Given the description of an element on the screen output the (x, y) to click on. 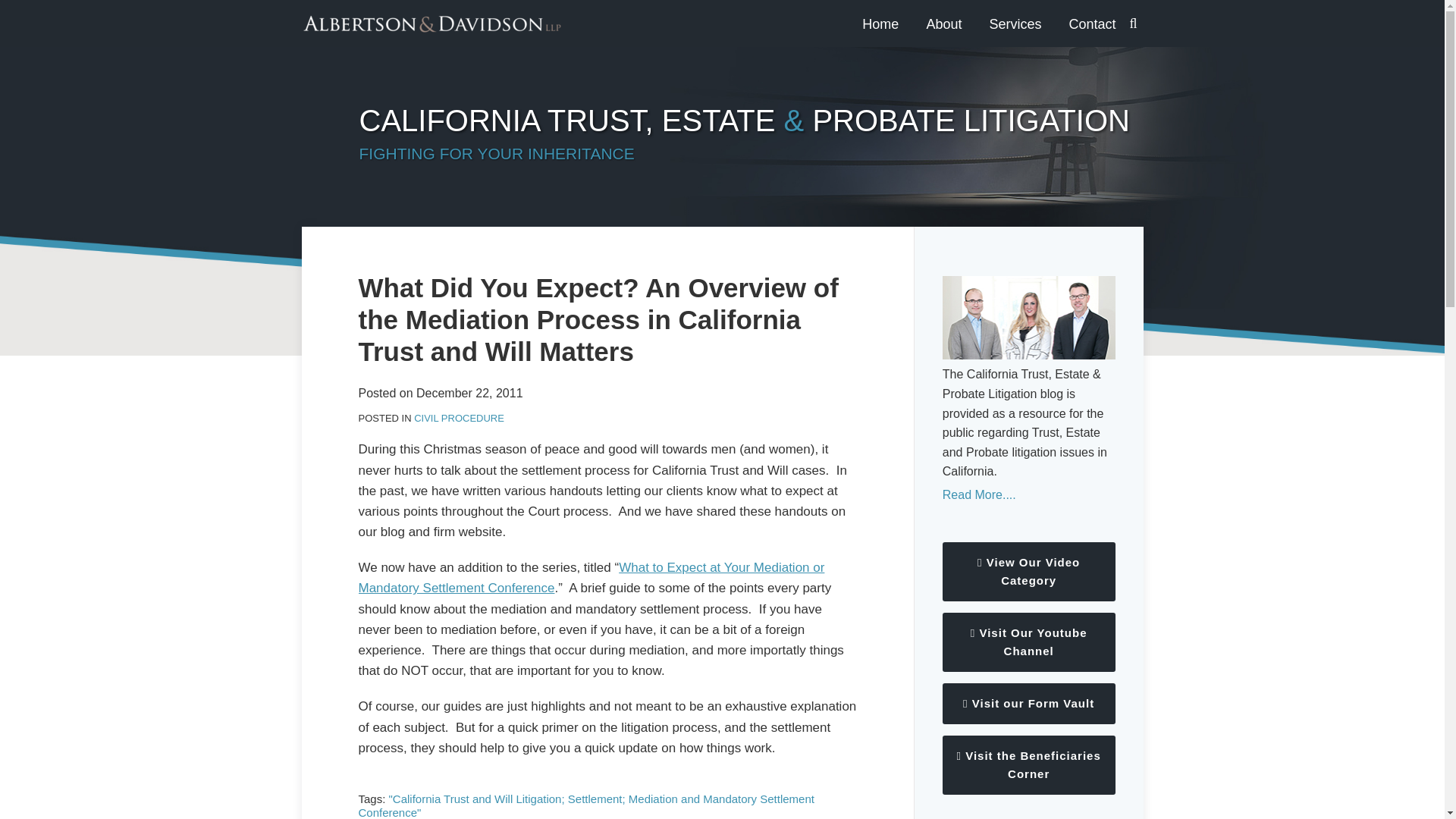
About (943, 24)
CIVIL PROCEDURE (458, 418)
Read More.... (1028, 495)
Visit our Form Vault (1028, 703)
Services (1014, 24)
Contact (1091, 24)
View Our Video Category (1028, 571)
Visit the Beneficiaries Corner (1028, 764)
